Given the description of an element on the screen output the (x, y) to click on. 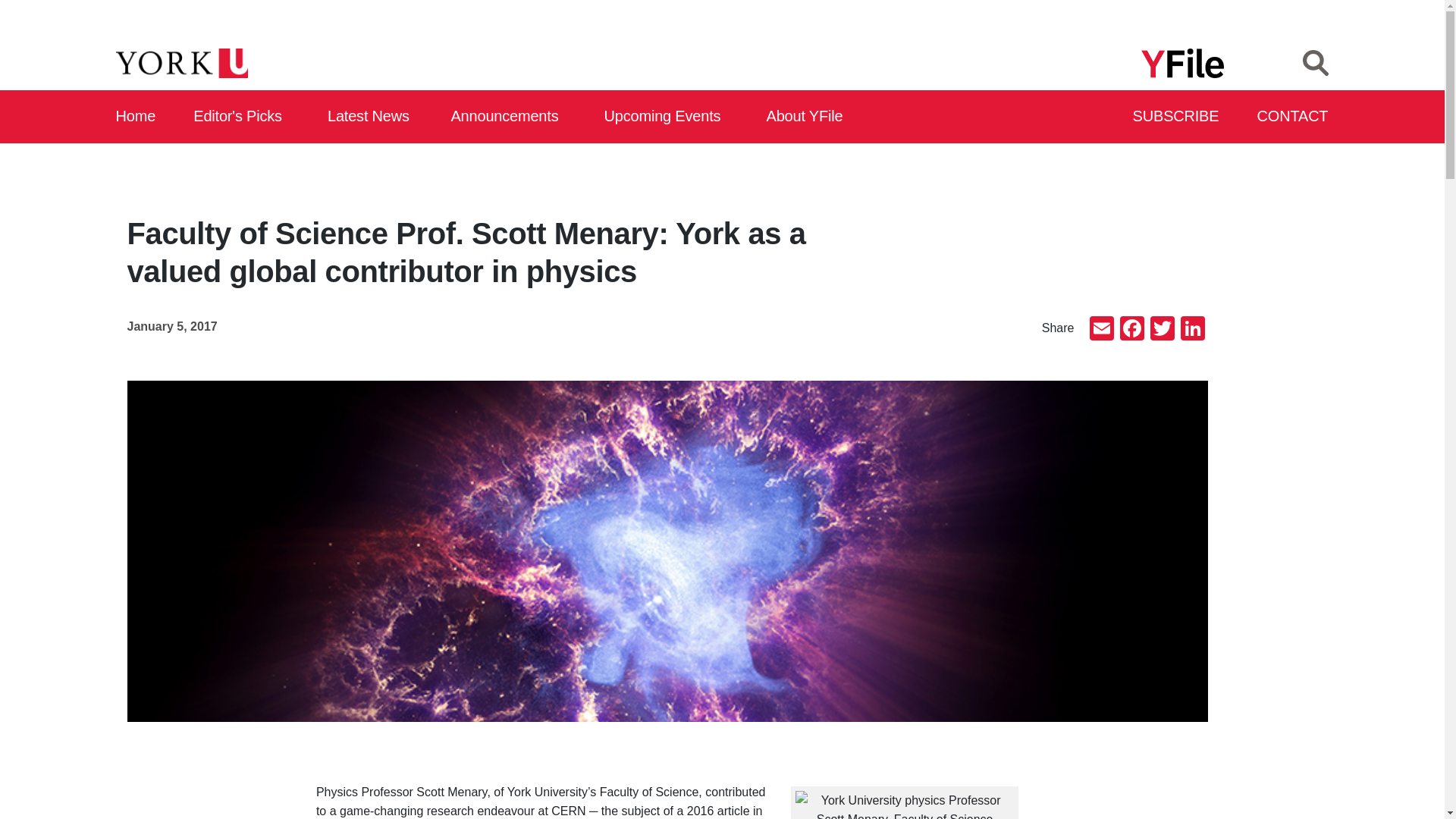
About YFile (806, 116)
LinkedIn (1191, 329)
Twitter (1161, 329)
Contact (1293, 116)
CONTACT (1293, 116)
Facebook (1131, 329)
Announcements (508, 116)
SUBSCRIBE (1176, 116)
Upcoming Events (667, 116)
Upcoming Events (667, 116)
Subscribe (1176, 116)
Home (136, 116)
About YFile (806, 116)
Announcements (508, 116)
Facebook (1131, 329)
